Given the description of an element on the screen output the (x, y) to click on. 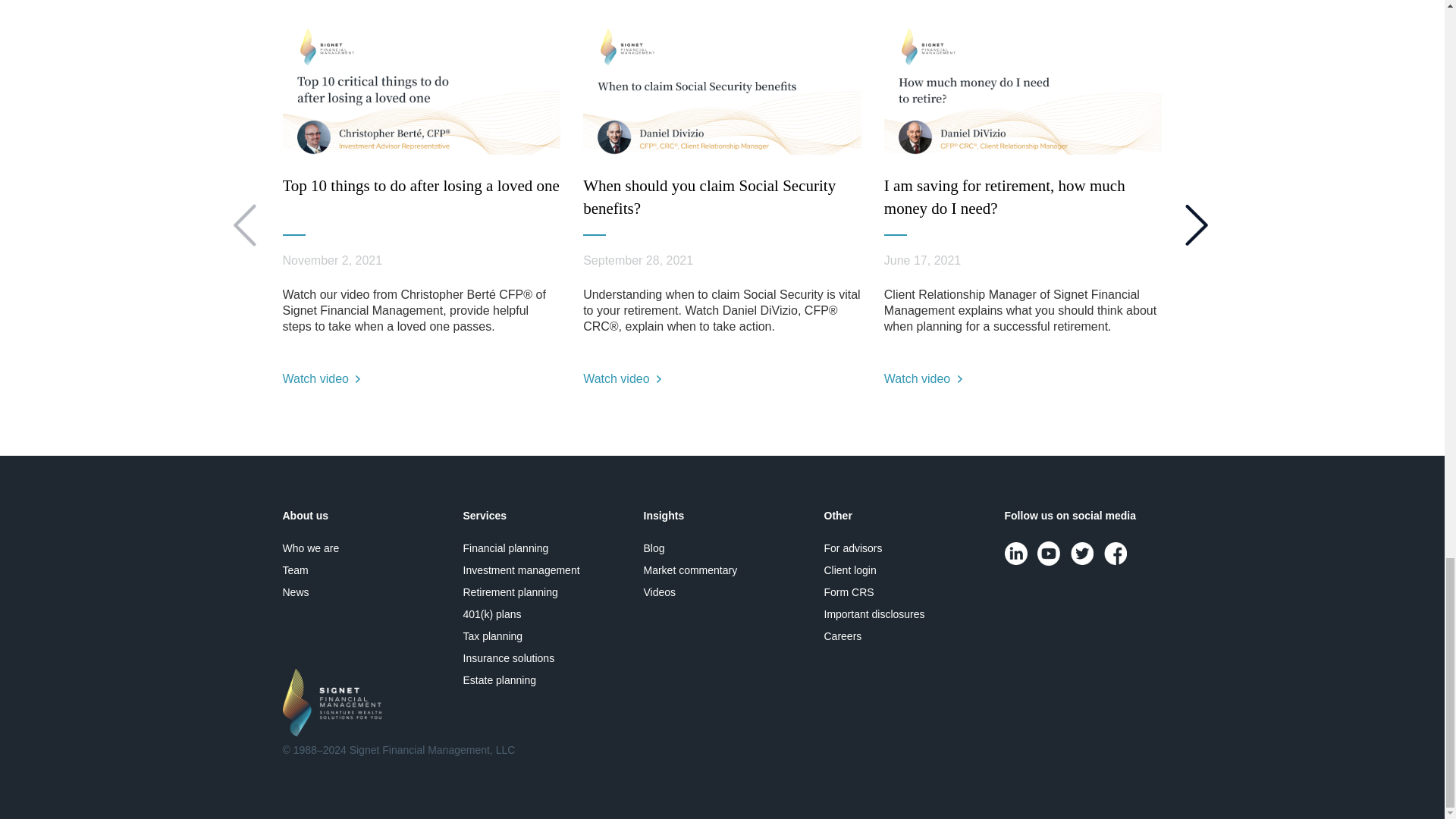
Watch video (1223, 378)
When should you claim Social Security benefits? (709, 196)
Watch video (622, 378)
Top 10 things to do after losing a loved one (420, 185)
Watch video (320, 378)
I am saving for retirement, how much money do I need? (1004, 196)
Watch video (922, 378)
